Given the description of an element on the screen output the (x, y) to click on. 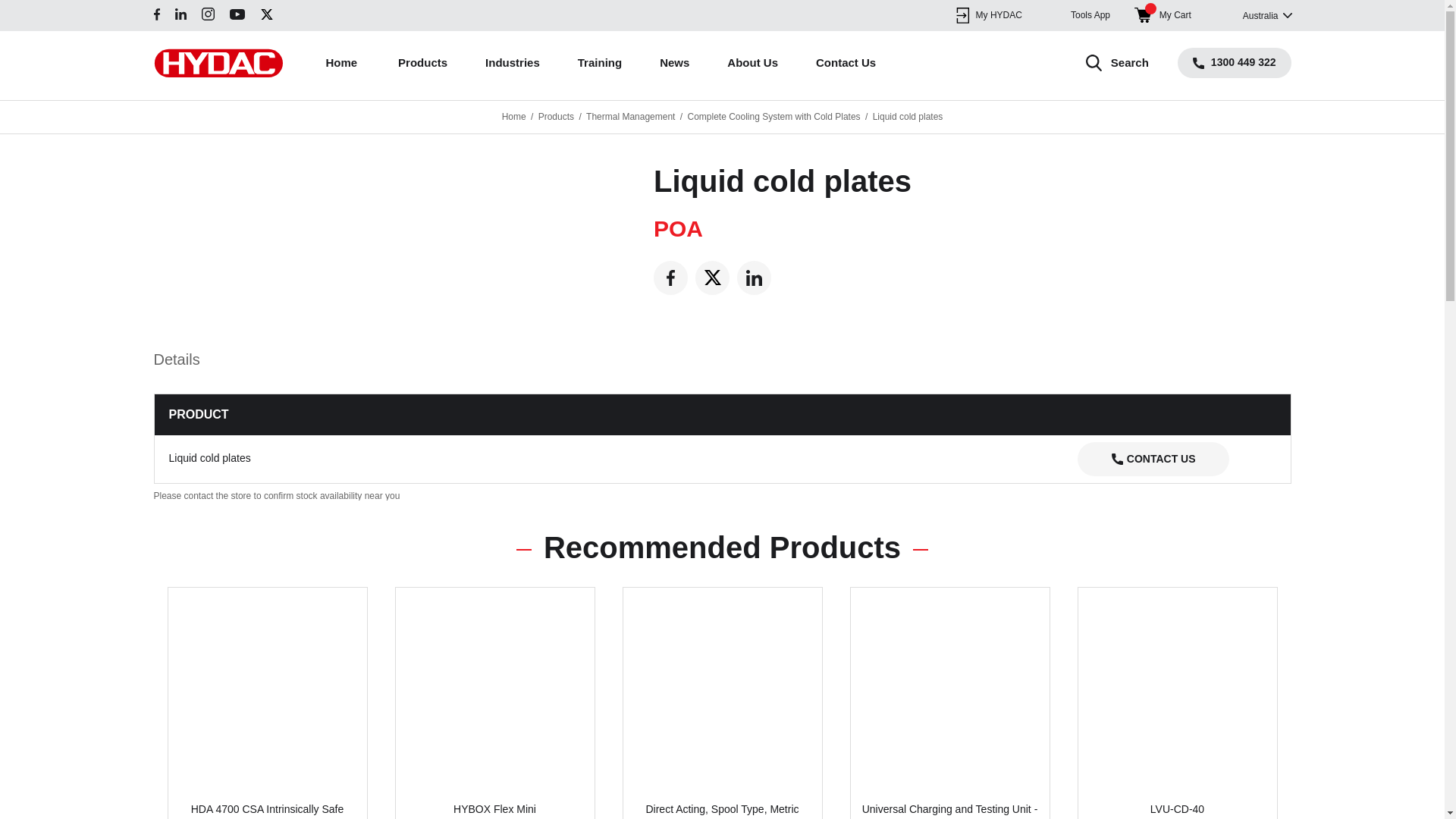
Go to Home Page (513, 116)
My HYDAC (988, 15)
LinkedIn (753, 277)
Home (342, 62)
Twitter (266, 14)
Hydac Australia (217, 62)
My Cart (1162, 14)
My Hydac (988, 15)
Products (421, 62)
Instagram (208, 13)
1300 449 322  (1234, 62)
Tools App (1077, 15)
Youtube (236, 14)
Twitter (712, 277)
Tools App (1077, 15)
